Given the description of an element on the screen output the (x, y) to click on. 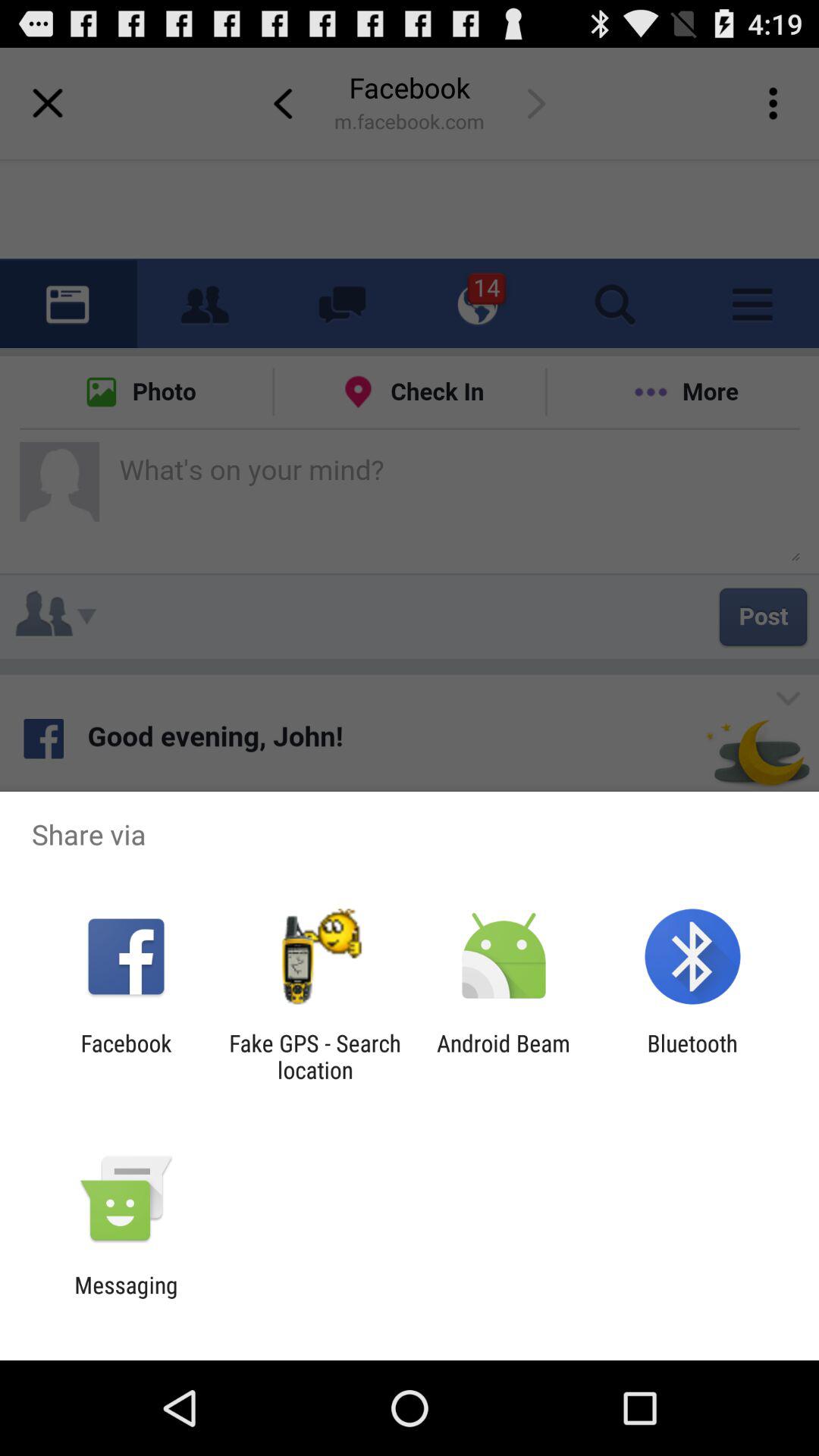
scroll to the facebook app (125, 1056)
